Given the description of an element on the screen output the (x, y) to click on. 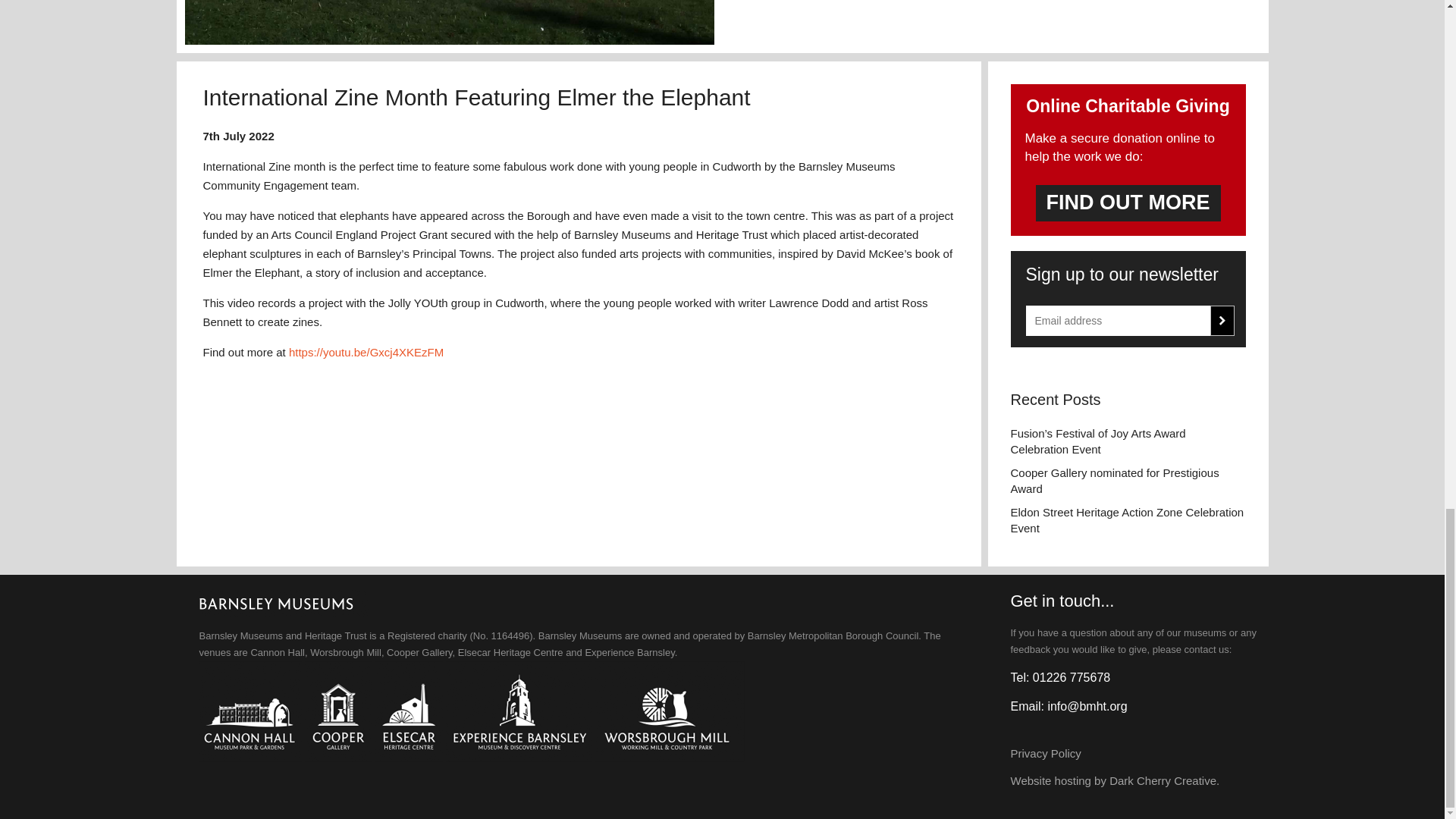
Cooper Gallery nominated for Prestigious Award (1127, 480)
Eldon Street Heritage Action Zone Celebration Event  (1127, 520)
Dark Cherry Creative (1162, 780)
Privacy Policy (1045, 753)
